Given the description of an element on the screen output the (x, y) to click on. 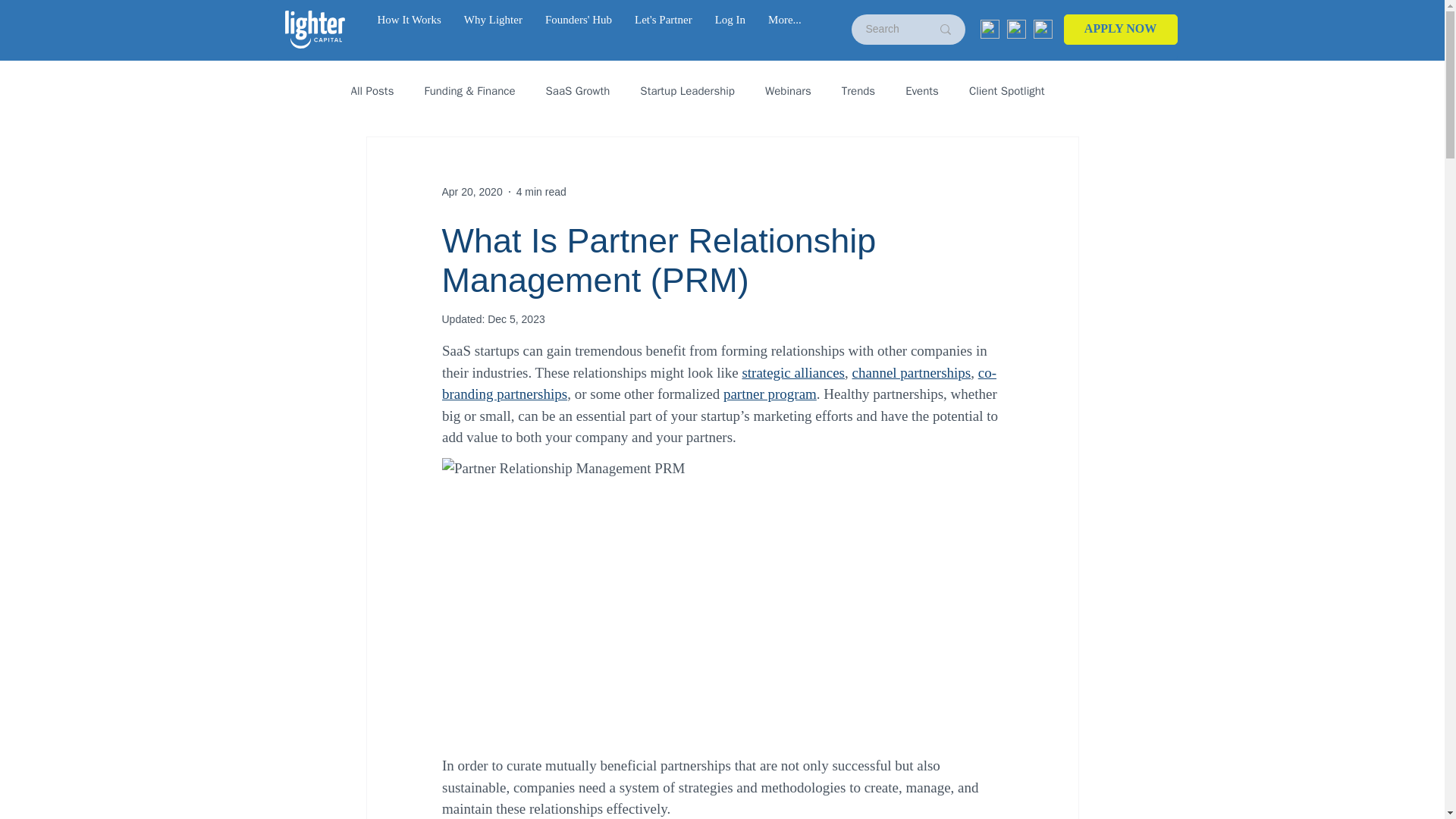
Webinars (787, 90)
Why Lighter (493, 27)
Founders' Hub (578, 27)
4 min read (541, 191)
All Posts (371, 90)
Startup Leadership (687, 90)
Client Spotlight (1007, 90)
How It Works (408, 27)
Let's Partner (663, 27)
Dec 5, 2023 (515, 318)
